Given the description of an element on the screen output the (x, y) to click on. 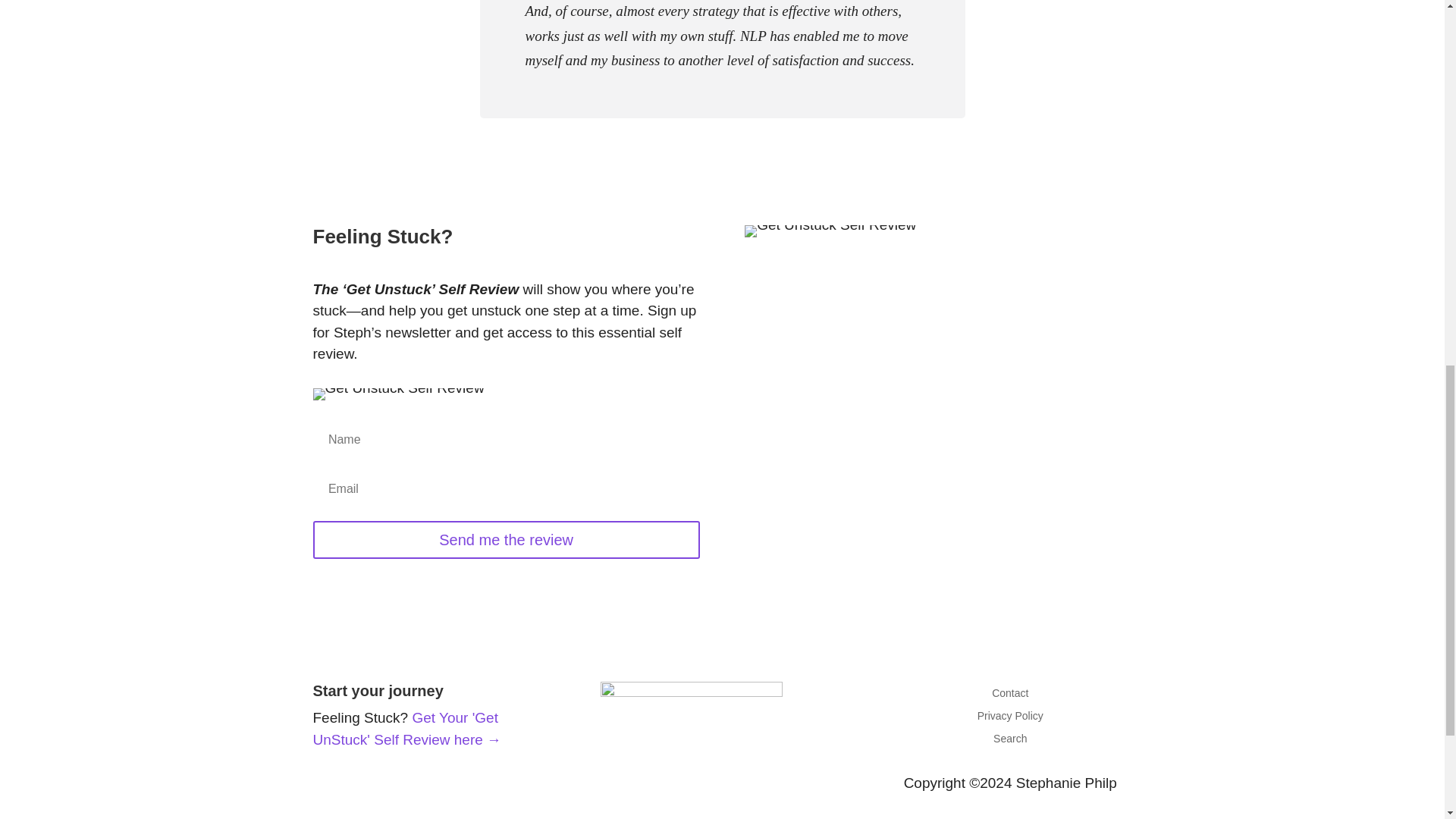
Send me the review (505, 539)
Review-ipadhorizontalleft-600w (398, 394)
Review-ipadhorizontalleft-600w (829, 231)
